Given the description of an element on the screen output the (x, y) to click on. 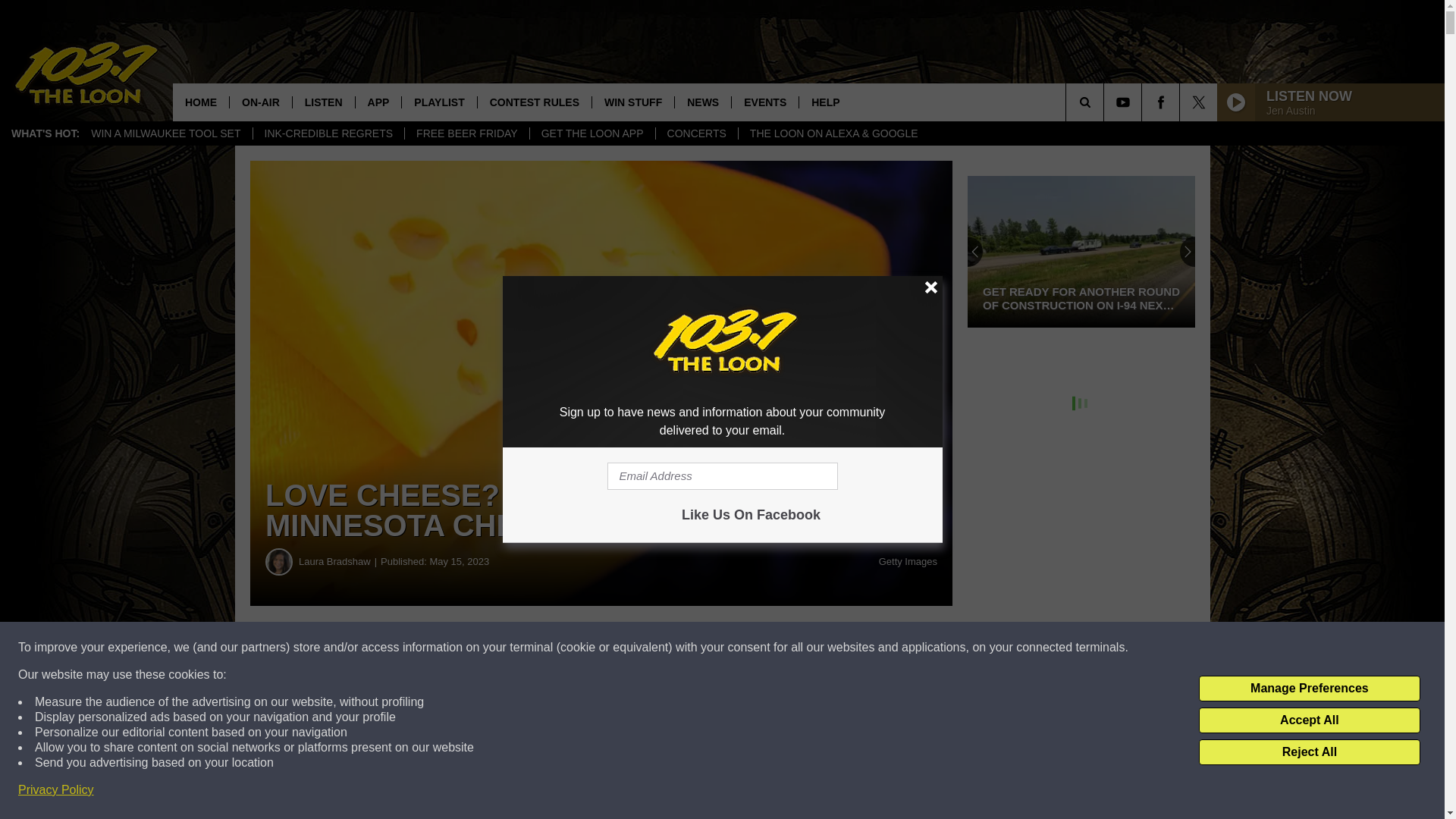
Reject All (1309, 751)
Accept All (1309, 720)
HOME (200, 102)
LISTEN (323, 102)
FREE BEER FRIDAY (466, 133)
ON-AIR (260, 102)
Privacy Policy (55, 789)
CONTEST RULES (534, 102)
Email Address (722, 475)
INK-CREDIBLE REGRETS (327, 133)
Manage Preferences (1309, 688)
WIN A MILWAUKEE TOOL SET (165, 133)
APP (378, 102)
CONCERTS (696, 133)
SEARCH (1106, 102)
